Given the description of an element on the screen output the (x, y) to click on. 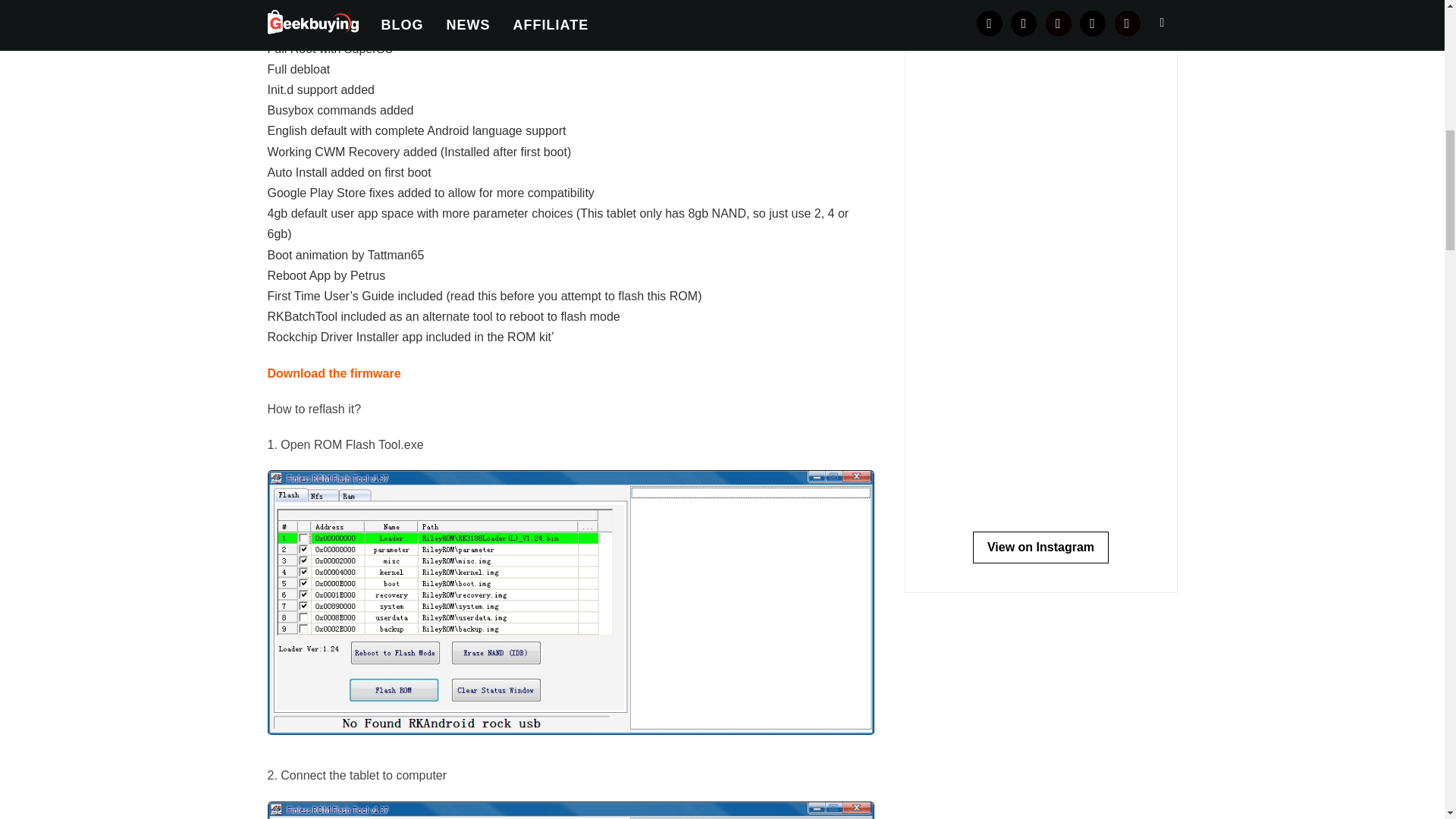
2 (569, 810)
Download the firmware (333, 373)
